Given the description of an element on the screen output the (x, y) to click on. 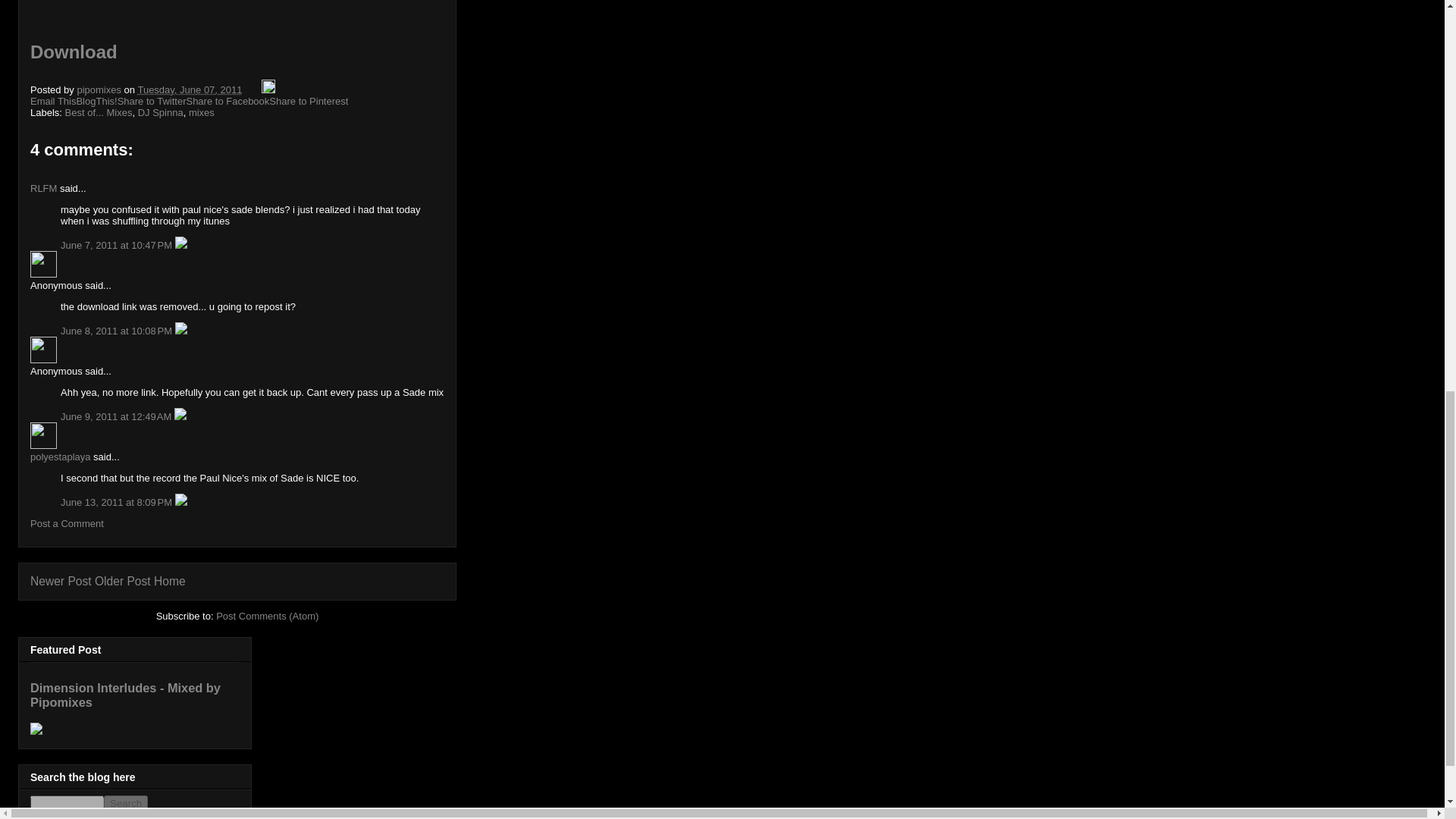
Share to Pinterest (308, 101)
RLFM (43, 188)
Email This (52, 101)
Edit Post (268, 89)
Delete Comment (180, 244)
Share to Twitter (151, 101)
permanent link (188, 89)
author profile (100, 89)
Anonymous (43, 263)
Email This (52, 101)
pipomixes (100, 89)
Share to Twitter (151, 101)
Share to Facebook (227, 101)
Search (125, 803)
